Given the description of an element on the screen output the (x, y) to click on. 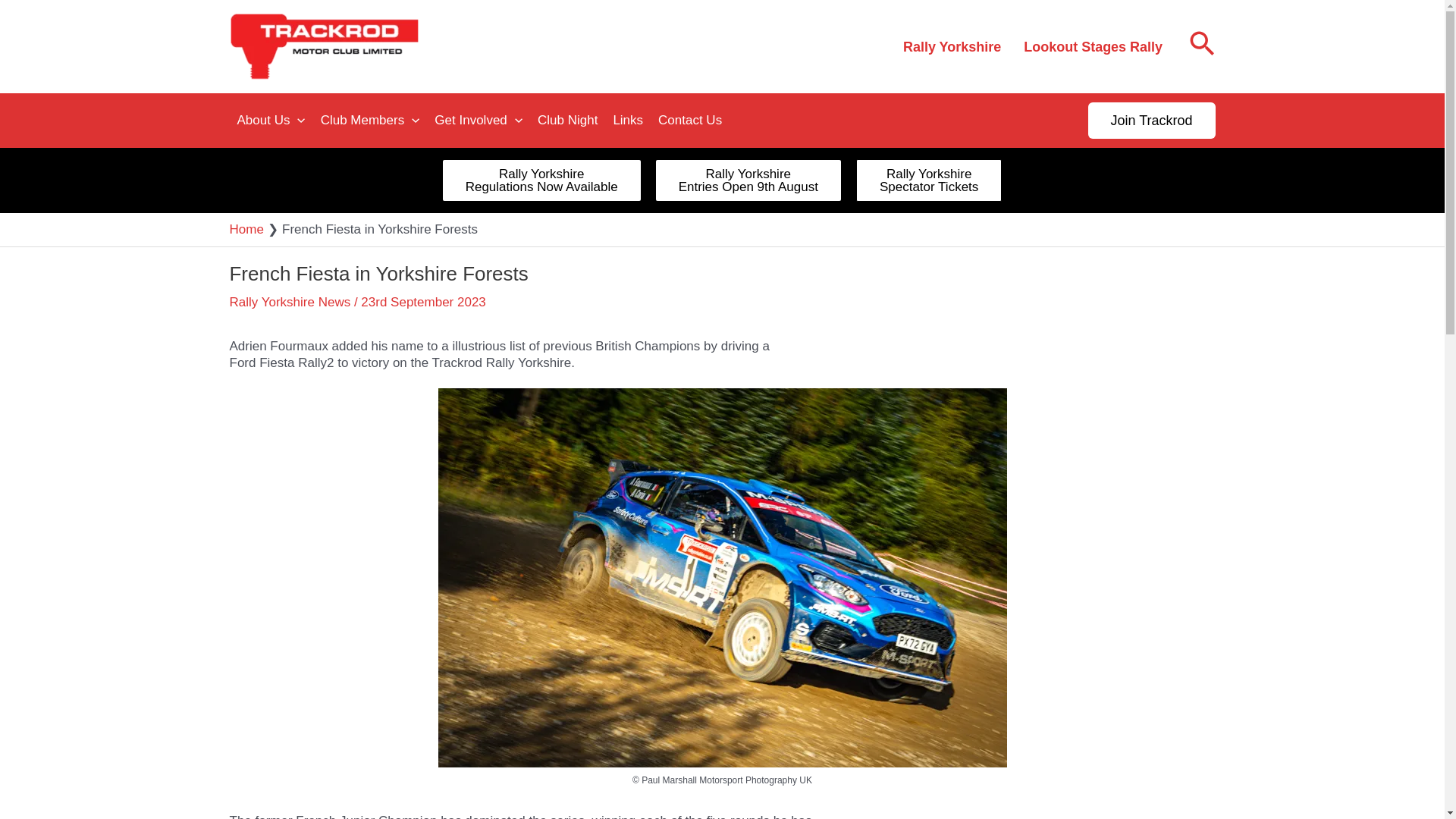
Get Involved (477, 120)
Home (245, 228)
Contact Us (689, 120)
Rally Yorkshire News (289, 301)
Lookout Stages Rally (1092, 47)
Club Members (748, 179)
Rally Yorkshire (370, 120)
Join Trackrod (951, 47)
Club Night (1151, 120)
About Us (541, 179)
